Given the description of an element on the screen output the (x, y) to click on. 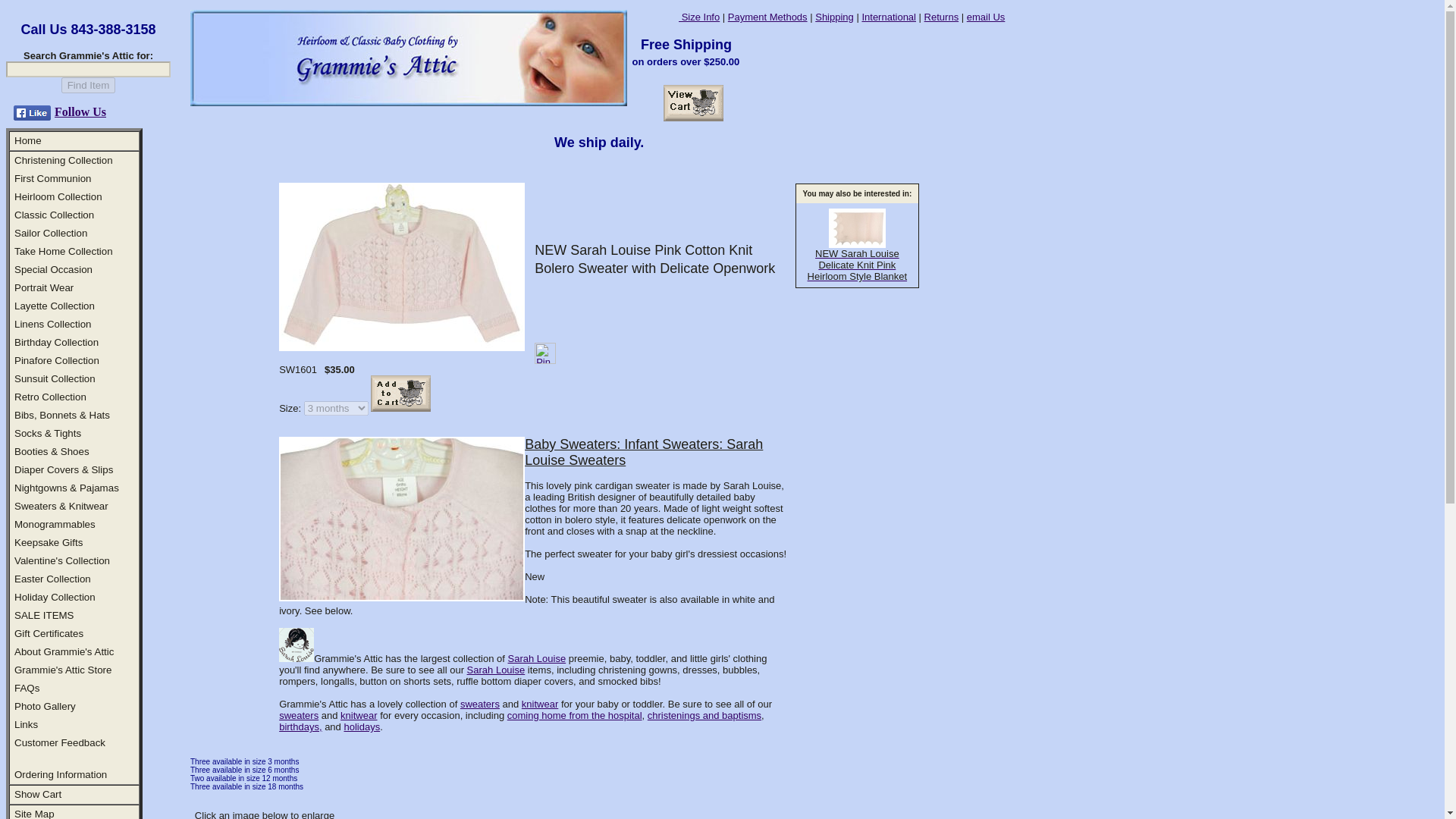
SALE ITEMS (44, 614)
Photo Gallery (44, 706)
Follow Us (80, 111)
Pinafore Collection (56, 360)
Valentine's Collection (62, 560)
Monogrammables (55, 523)
Holiday Collection (55, 596)
Heirloom Collection (57, 196)
Keepsake Gifts (48, 542)
Find Item (88, 84)
